Given the description of an element on the screen output the (x, y) to click on. 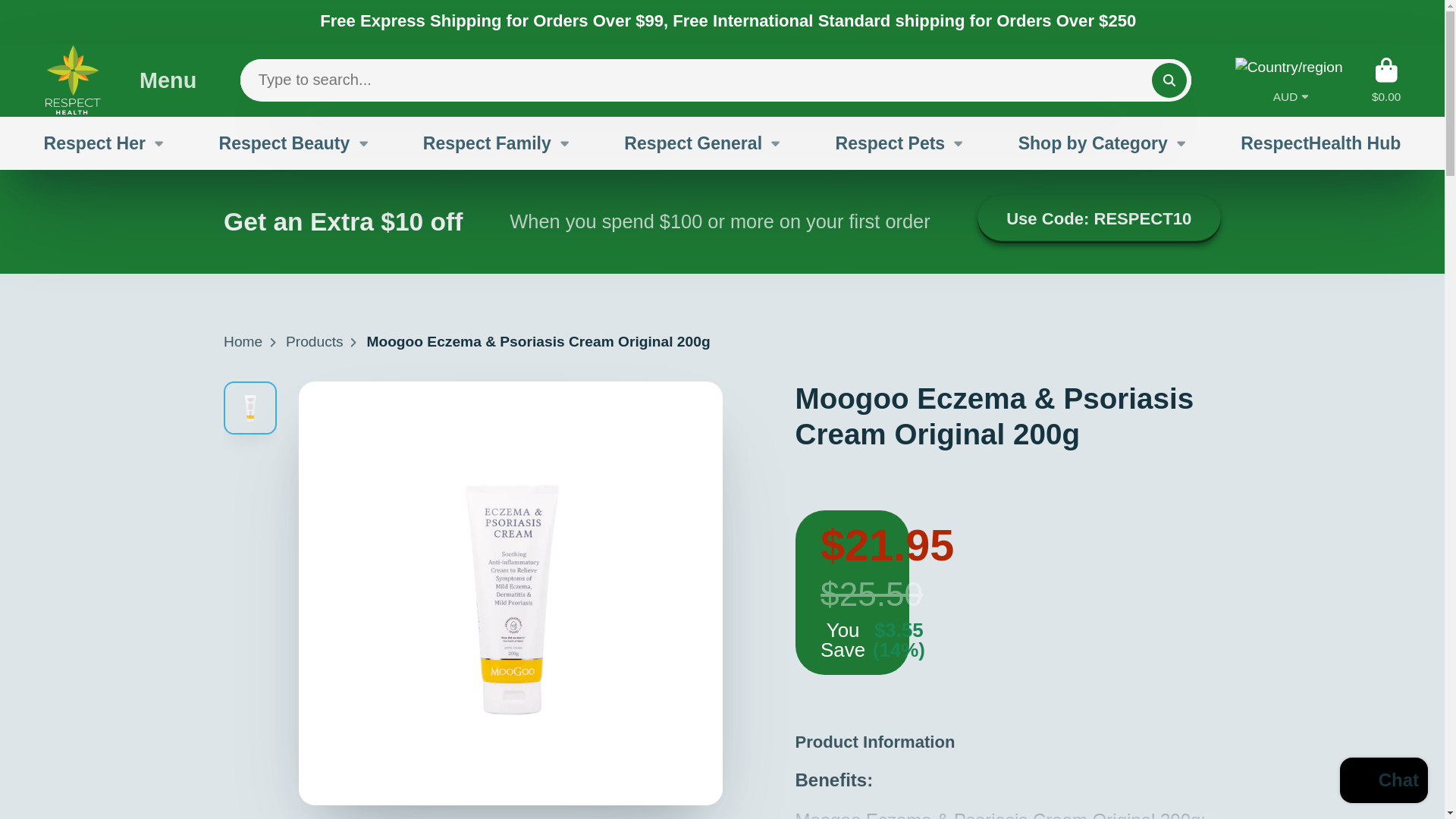
Shopify online store chat (1383, 781)
Respect Family (496, 143)
Respect General (702, 143)
Respect Her (104, 143)
Respect Beauty (293, 143)
